Given the description of an element on the screen output the (x, y) to click on. 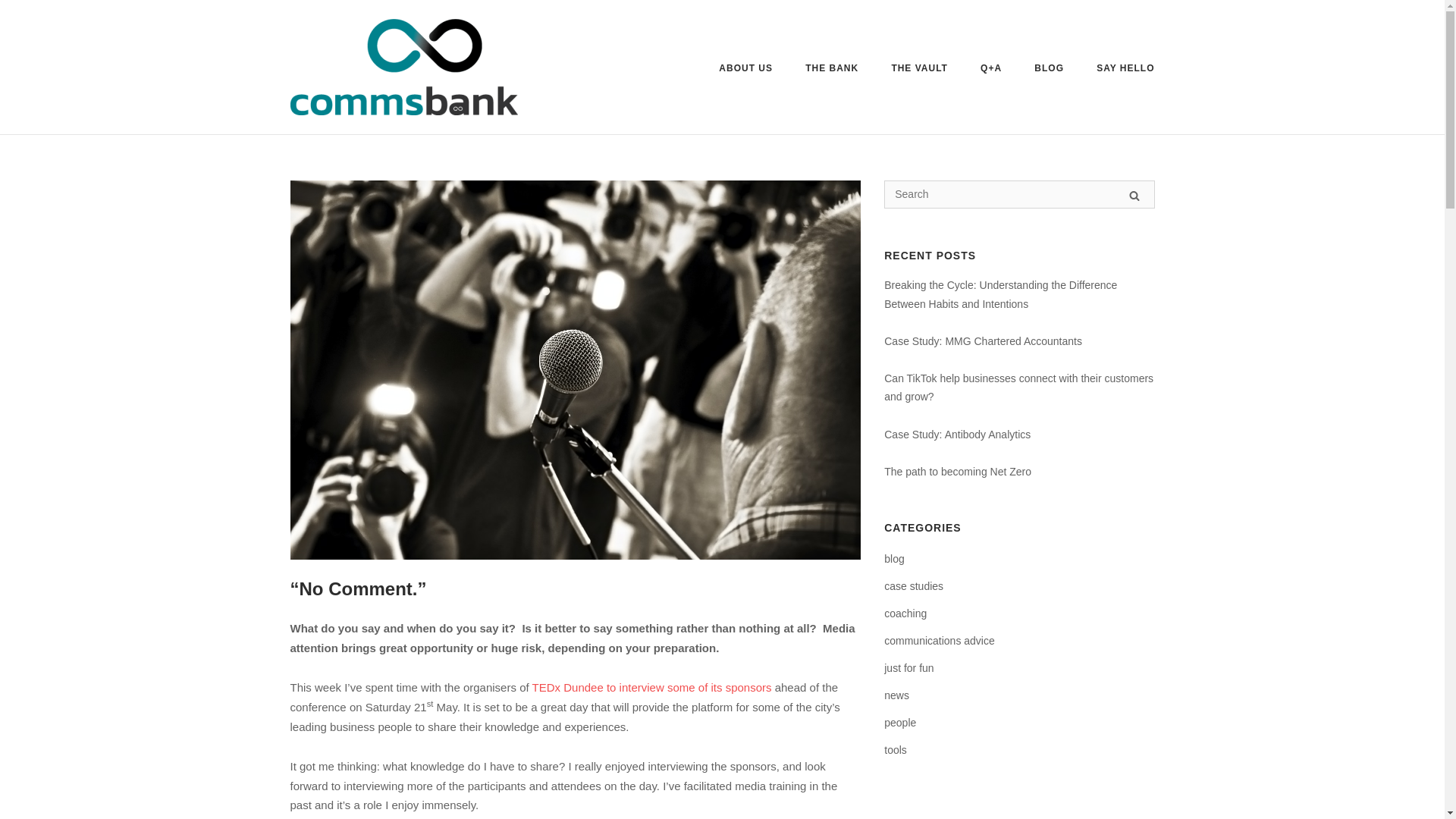
The path to becoming Net Zero (956, 471)
TEDx Dundee to interview some of its sponsors (651, 686)
just for fun (908, 667)
people (899, 722)
a bit of fun for when life gets a bit serious (908, 667)
Case Study: MMG Chartered Accountants (982, 340)
THE BANK (832, 69)
THE VAULT (919, 69)
news (895, 694)
blog (893, 558)
